Given the description of an element on the screen output the (x, y) to click on. 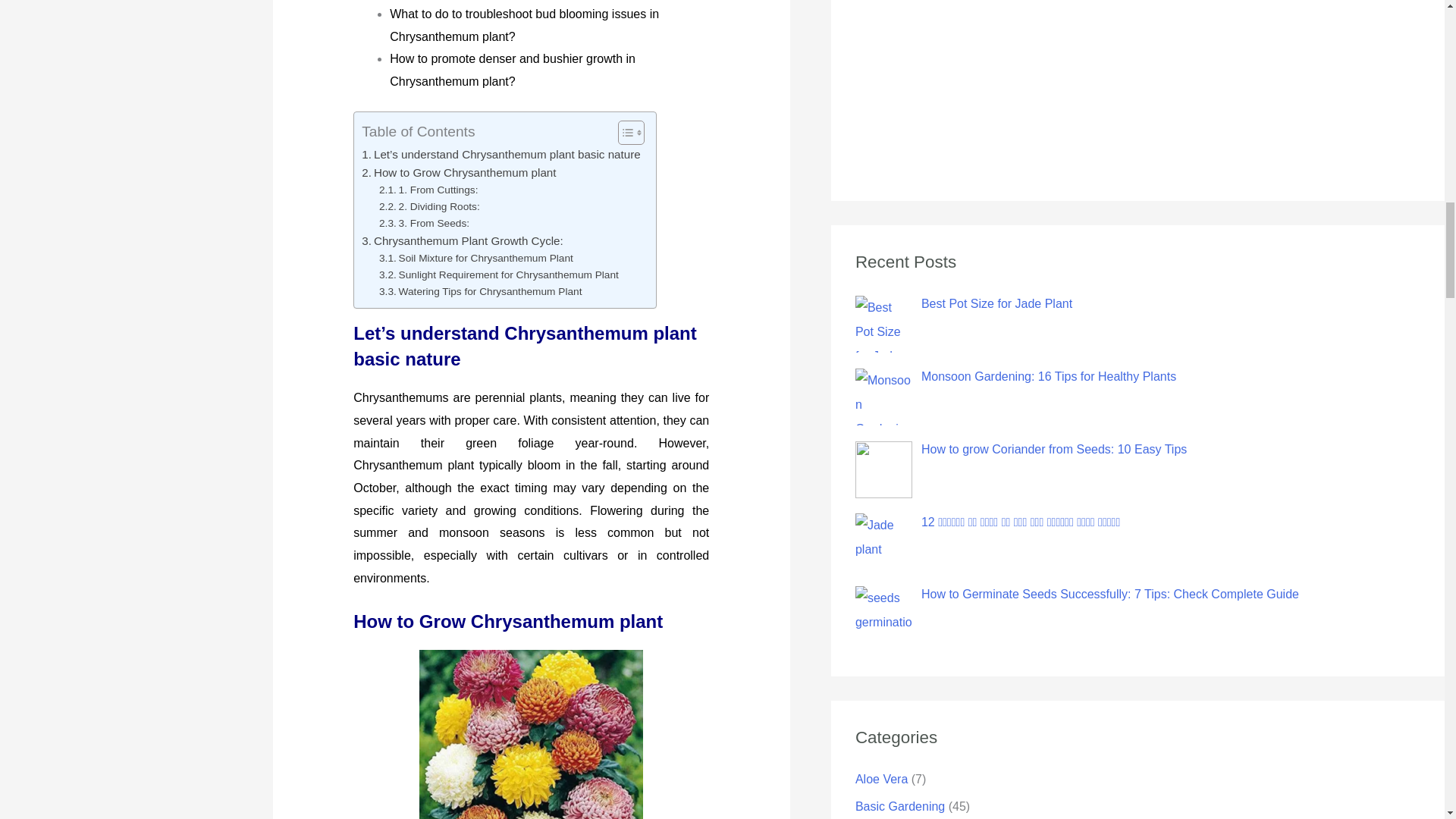
Chrysanthemum Plant Growth Cycle: (462, 240)
3. From Seeds: (423, 223)
2. Dividing Roots: (429, 207)
How to Grow Chrysanthemum plant (458, 172)
Sunlight Requirement for Chrysanthemum Plant (498, 274)
1. From Cuttings: (427, 190)
Watering Tips for Chrysanthemum Plant (479, 291)
Soil Mixture for Chrysanthemum Plant (475, 258)
